Given the description of an element on the screen output the (x, y) to click on. 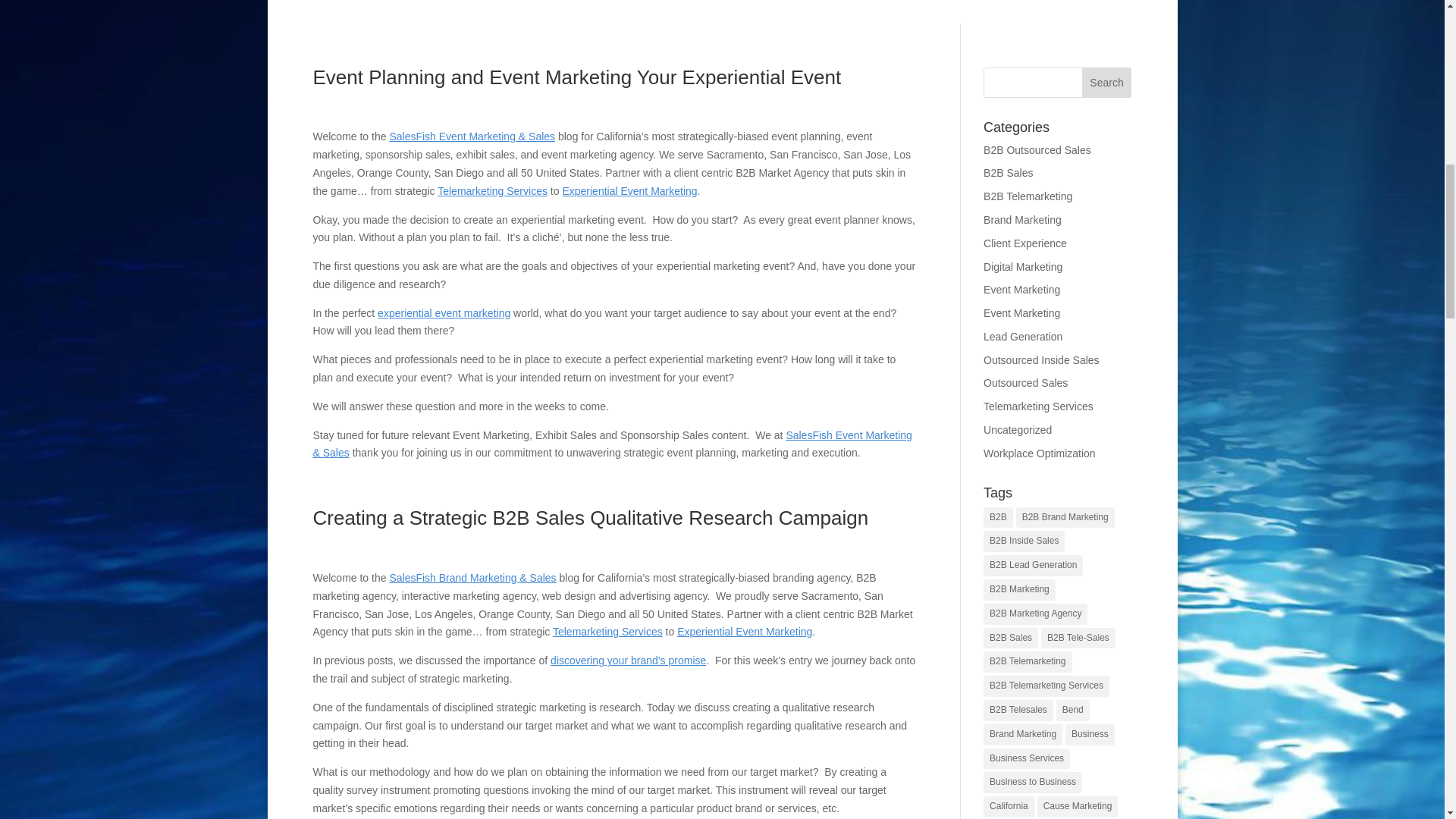
Telemarketing Services (607, 631)
Experiential Event Marketing (444, 313)
Discovery Your Brand Promise (628, 660)
Search (1106, 82)
Telemarketing Services (492, 191)
Experiential Event Marketing (744, 631)
Experiential Event Marketing (629, 191)
